Given the description of an element on the screen output the (x, y) to click on. 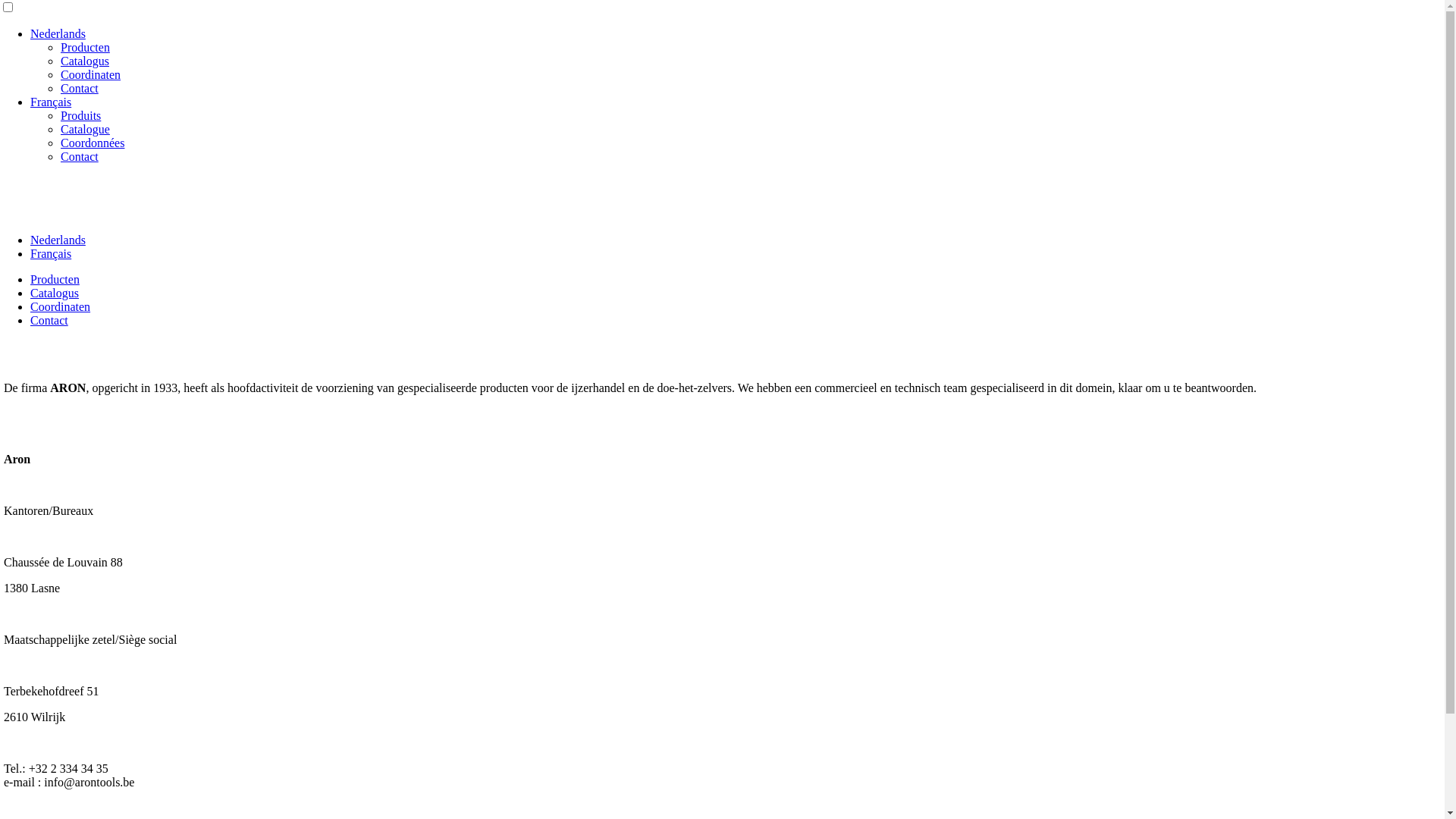
Nederlands Element type: text (57, 239)
Coordinaten Element type: text (60, 306)
Contact Element type: text (79, 87)
Catalogus Element type: text (84, 60)
Produits Element type: text (80, 115)
Nederlands Element type: text (57, 33)
Producten Element type: text (84, 46)
Producten Element type: text (54, 279)
Coordinaten Element type: text (90, 74)
Catalogue Element type: text (84, 128)
Contact Element type: text (79, 156)
Catalogus Element type: text (54, 292)
Contact Element type: text (49, 319)
